Given the description of an element on the screen output the (x, y) to click on. 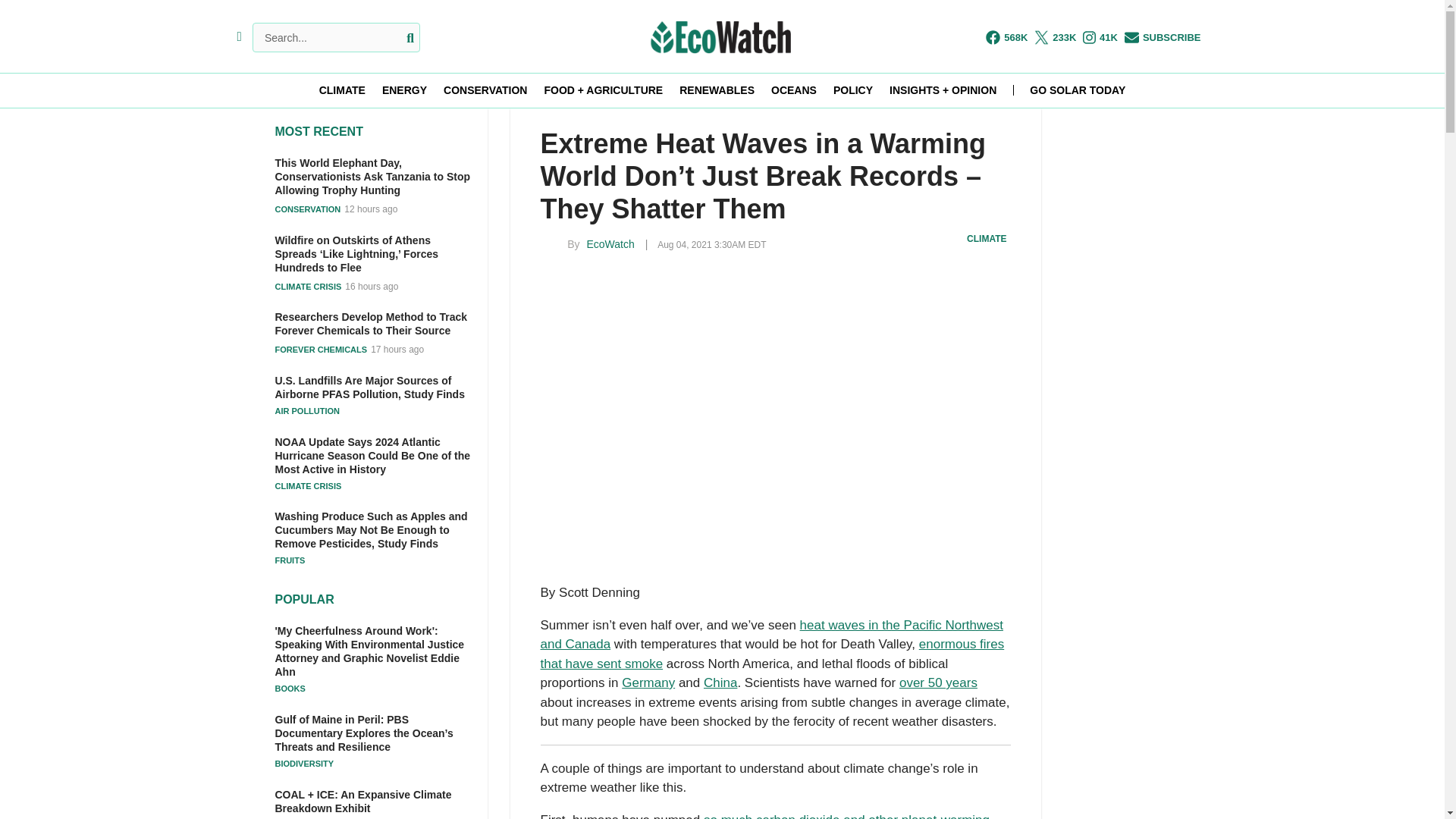
GO SOLAR TODAY (1077, 90)
OCEANS (793, 90)
233K (1054, 37)
CONSERVATION (485, 90)
RENEWABLES (716, 90)
568K (1006, 37)
SUBSCRIBE (1162, 37)
41K (1099, 37)
POLICY (852, 90)
CLIMATE (341, 90)
